Given the description of an element on the screen output the (x, y) to click on. 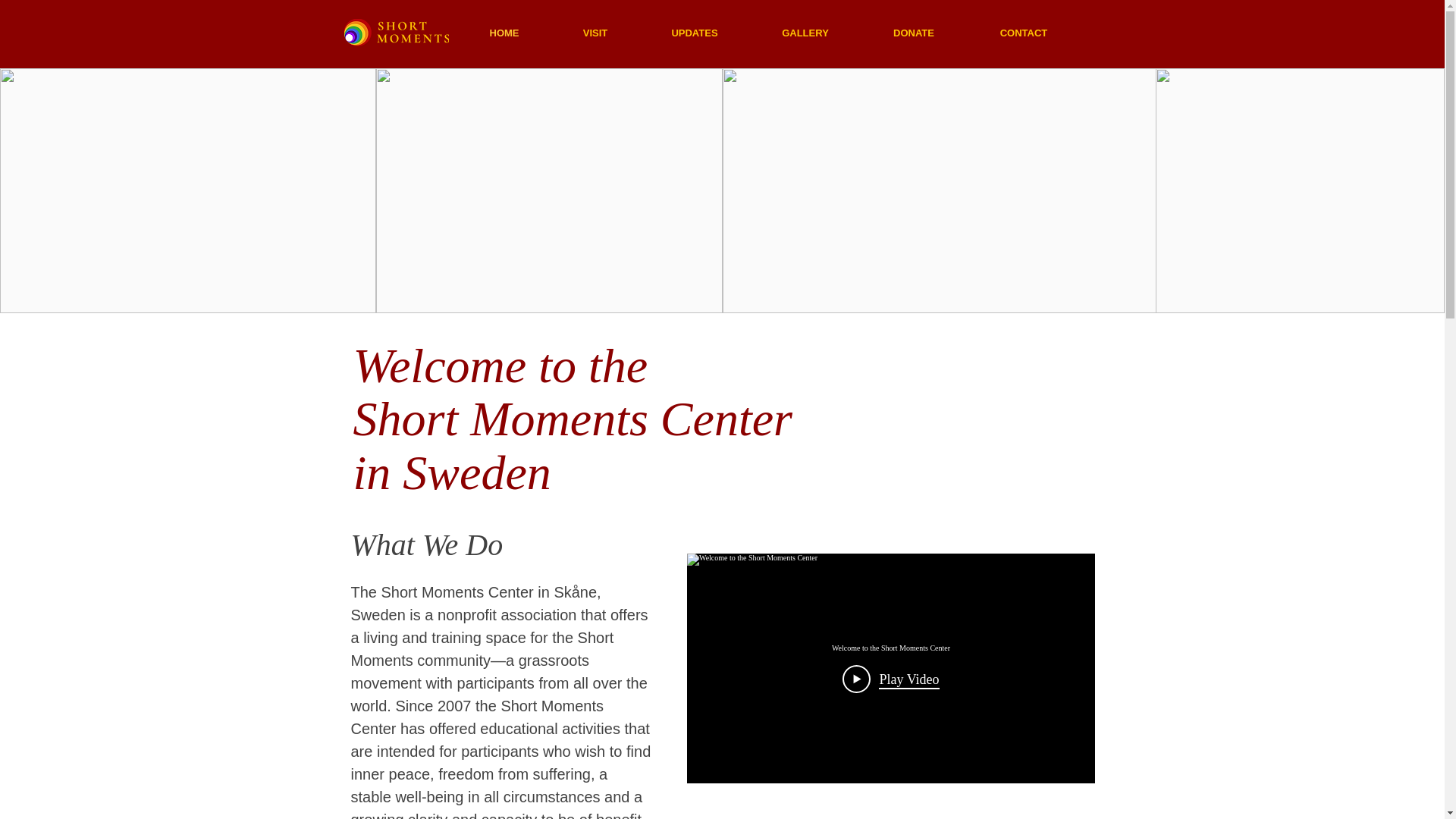
Welcome to the (500, 366)
HOME (504, 33)
in Sweden (452, 472)
Short Moments Center (573, 418)
CONTACT (1024, 33)
GALLERY (805, 33)
DONATE (913, 33)
Welcome to the Short Moments Center (890, 647)
